Given the description of an element on the screen output the (x, y) to click on. 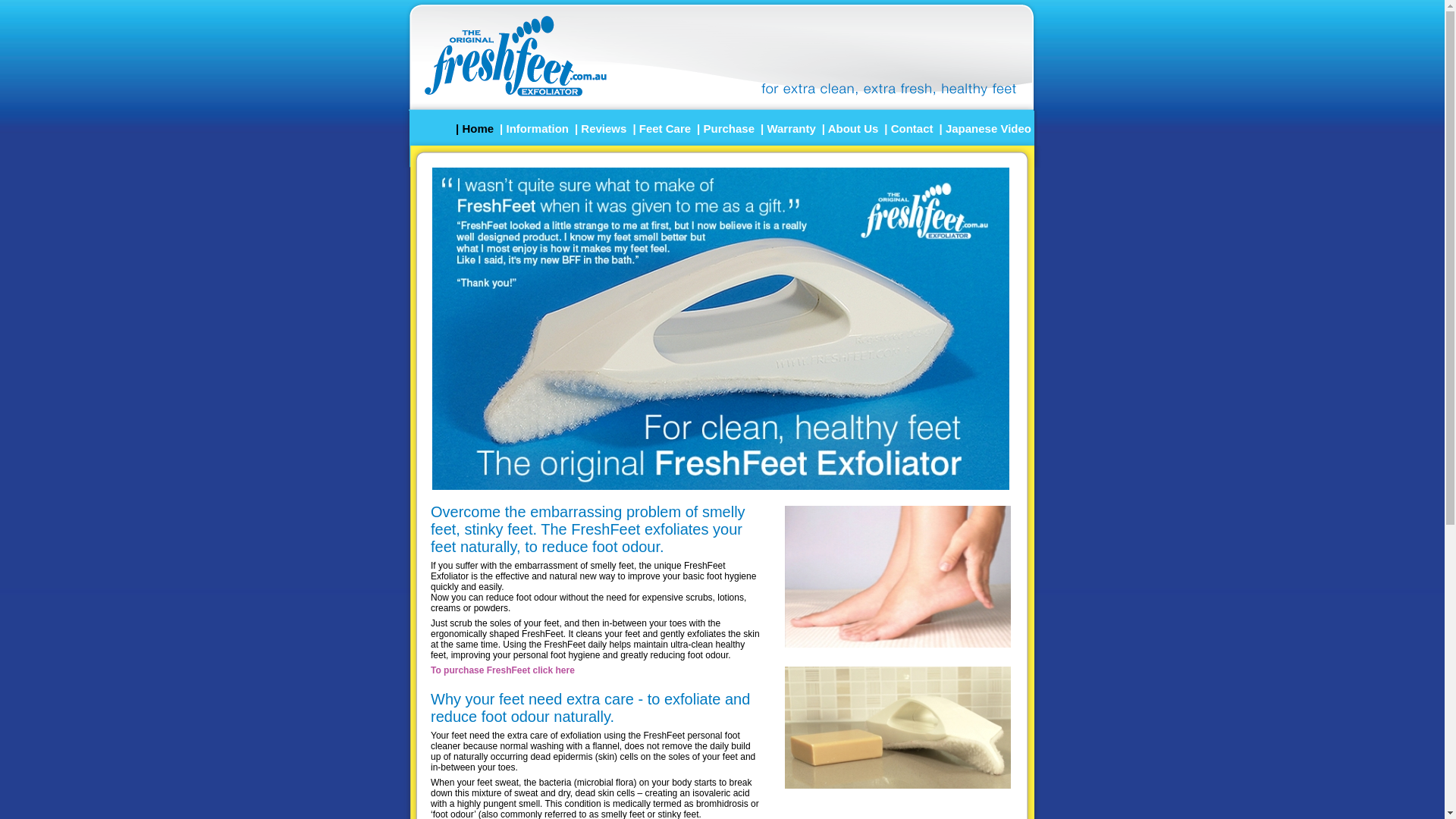
| Feet Care Element type: text (661, 127)
| Japanese Video Element type: text (985, 127)
To purchase FreshFeet click here Element type: text (502, 670)
| Information Element type: text (533, 127)
| Warranty Element type: text (787, 127)
| Reviews Element type: text (600, 127)
| Contact Element type: text (908, 127)
| Home Element type: text (474, 127)
| Purchase Element type: text (725, 127)
| About Us Element type: text (850, 127)
